Given the description of an element on the screen output the (x, y) to click on. 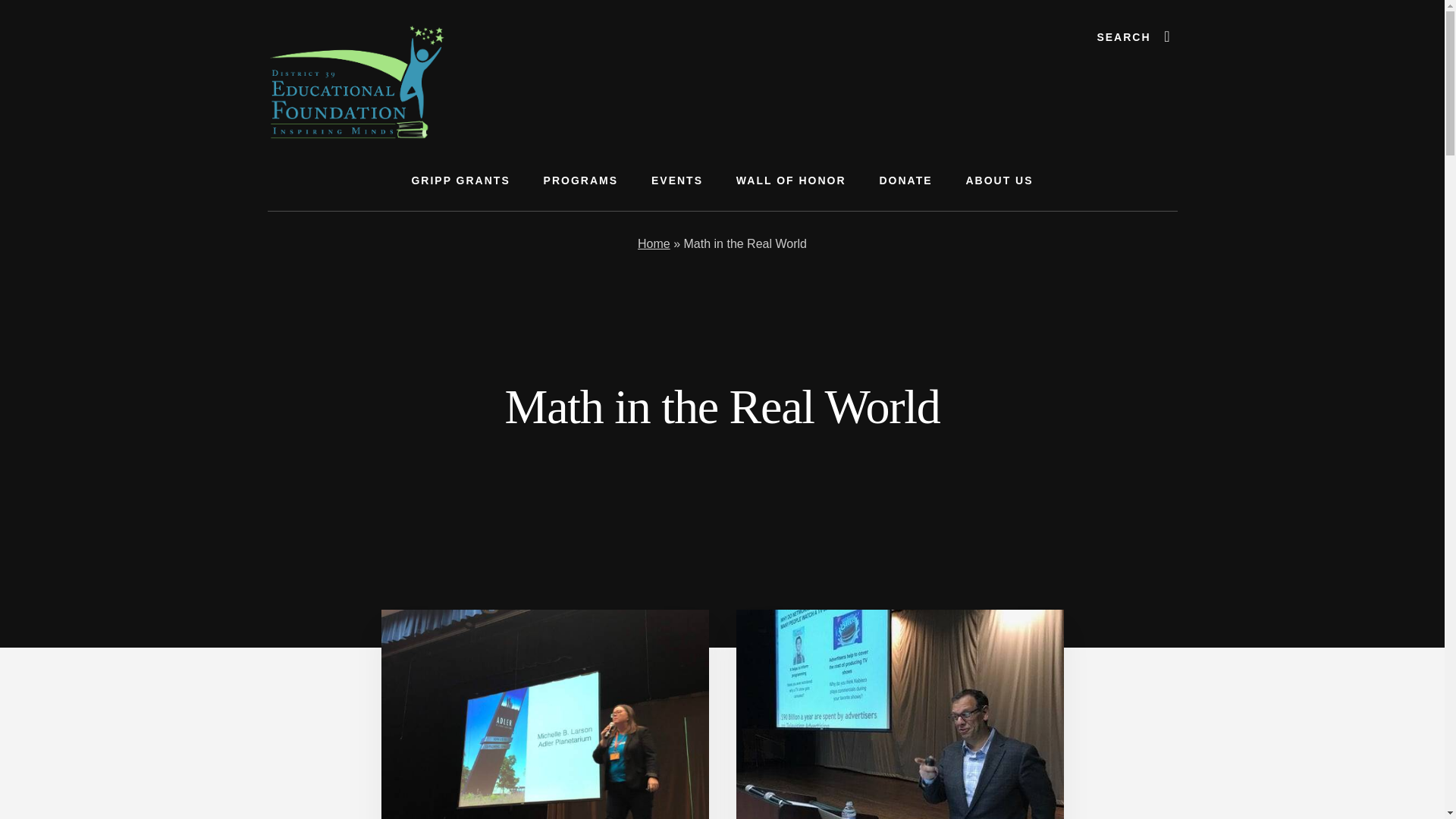
DONATE (905, 180)
ABOUT US (999, 180)
EVENTS (676, 180)
GRIPP GRANTS (460, 180)
Home (653, 243)
WALL OF HONOR (790, 180)
PROGRAMS (580, 180)
